Given the description of an element on the screen output the (x, y) to click on. 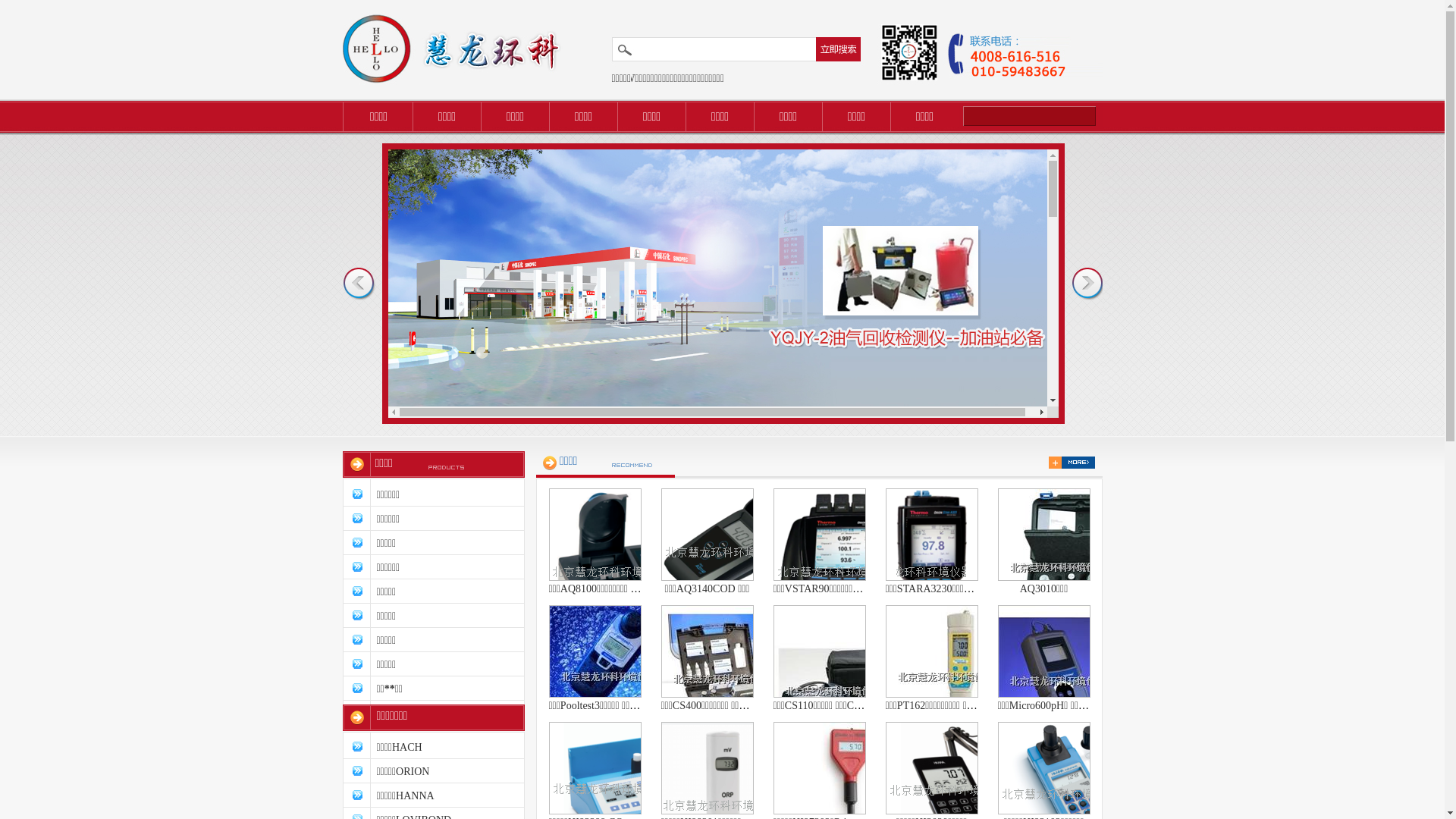
1 Element type: hover (723, 414)
2 Element type: hover (723, 682)
